Given the description of an element on the screen output the (x, y) to click on. 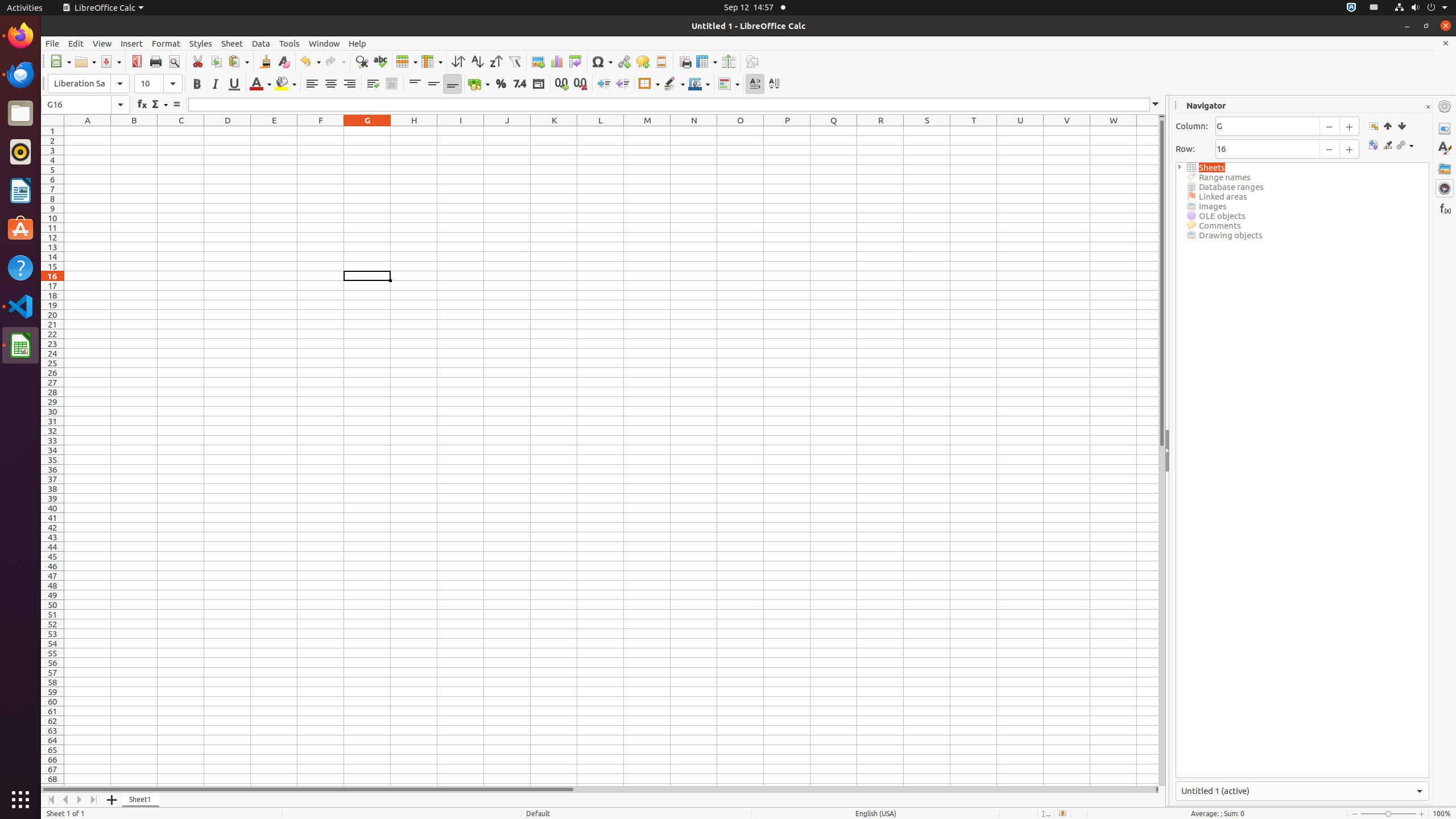
Files Element type: push-button (20, 113)
Align Top Element type: push-button (414, 83)
:1.72/StatusNotifierItem Element type: menu (1350, 7)
L1 Element type: table-cell (600, 130)
